Given the description of an element on the screen output the (x, y) to click on. 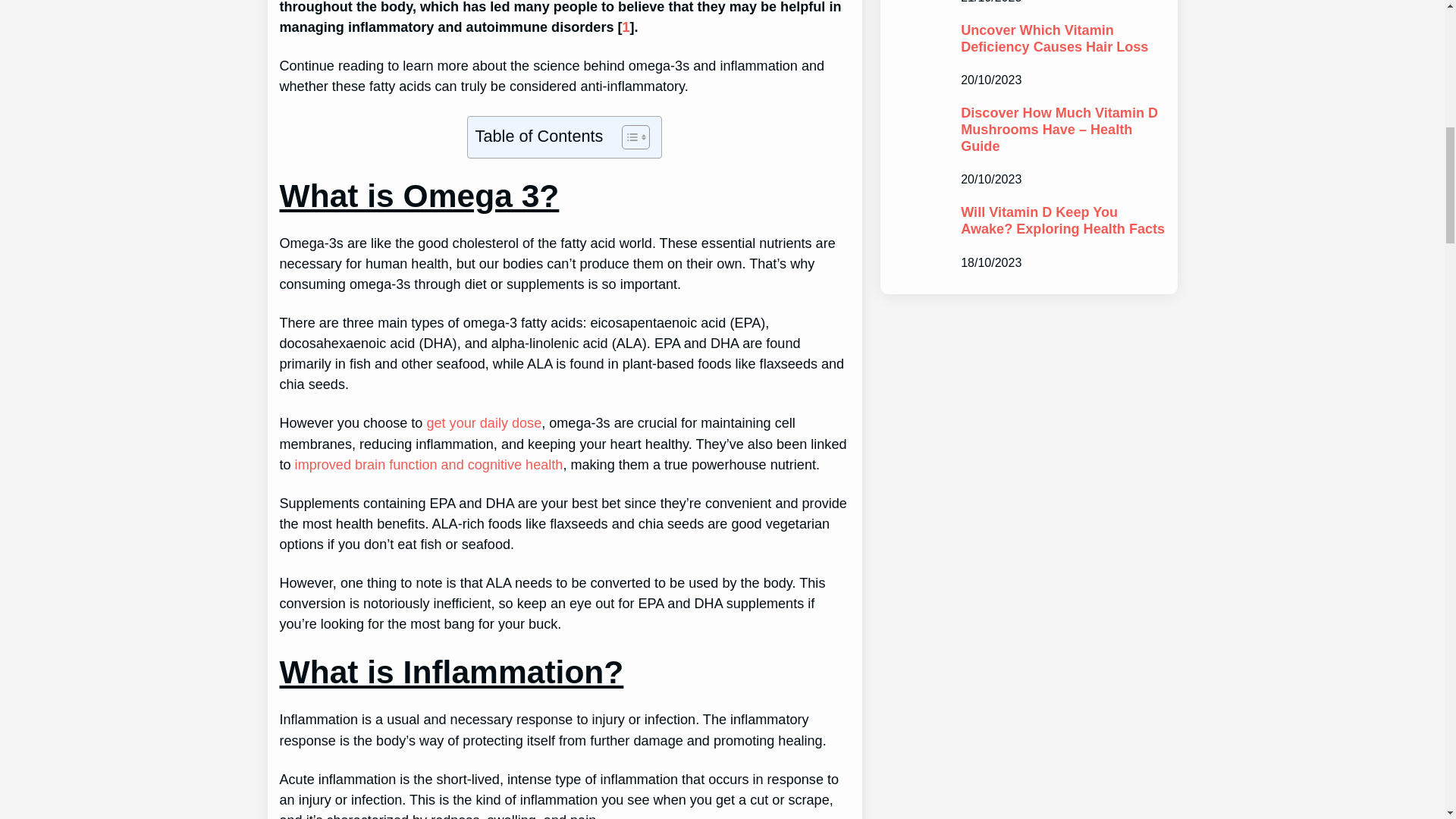
improved brain function and cognitive health (429, 464)
Uncover Which Vitamin Deficiency Causes Hair Loss (1062, 38)
get your daily dose (483, 422)
Will Vitamin D Keep You Awake? Exploring Health Facts (1062, 220)
